Given the description of an element on the screen output the (x, y) to click on. 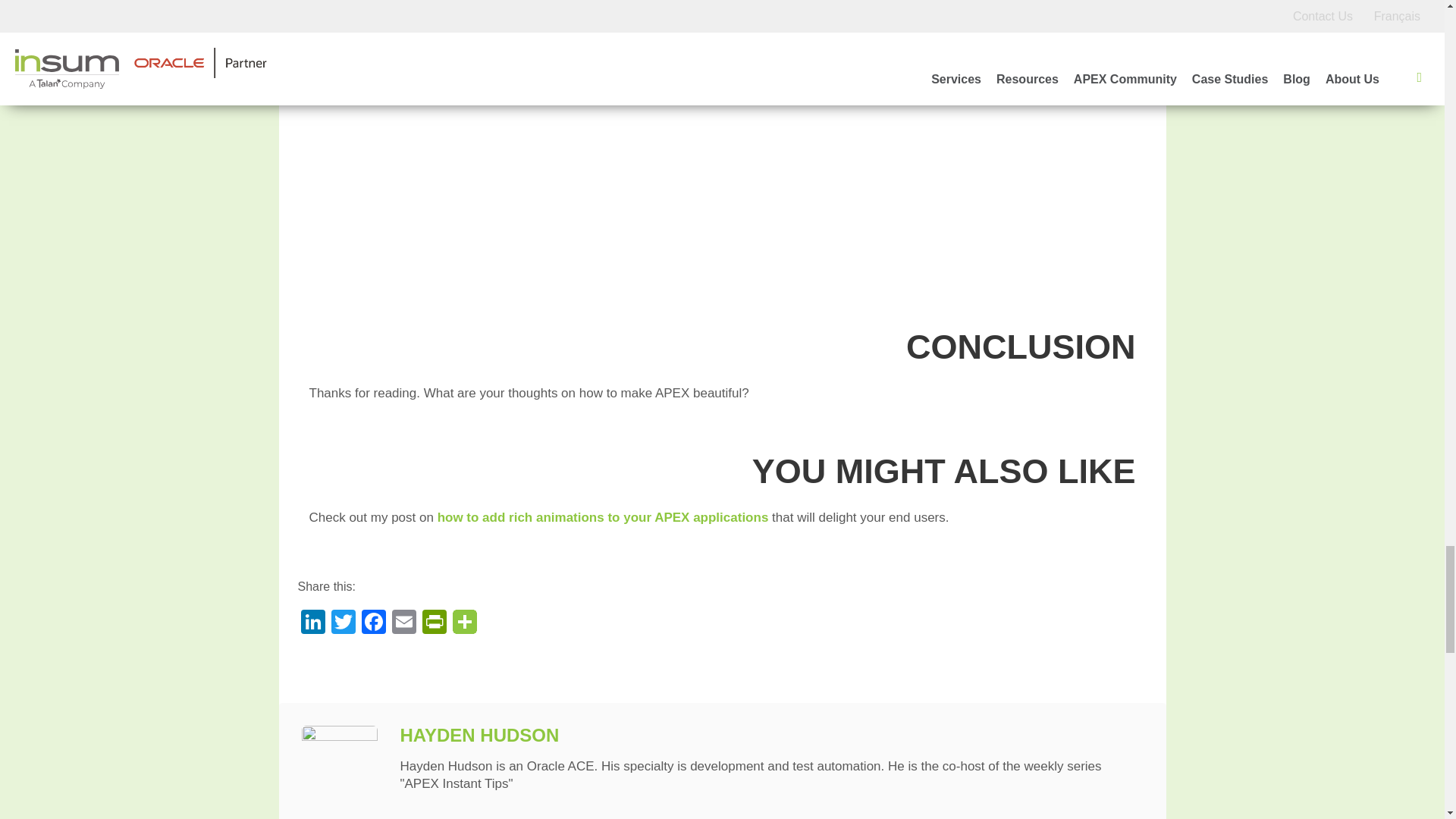
Email (403, 623)
PrintFriendly (433, 623)
LinkedIn (312, 623)
Facebook (373, 623)
Twitter (342, 623)
